Given the description of an element on the screen output the (x, y) to click on. 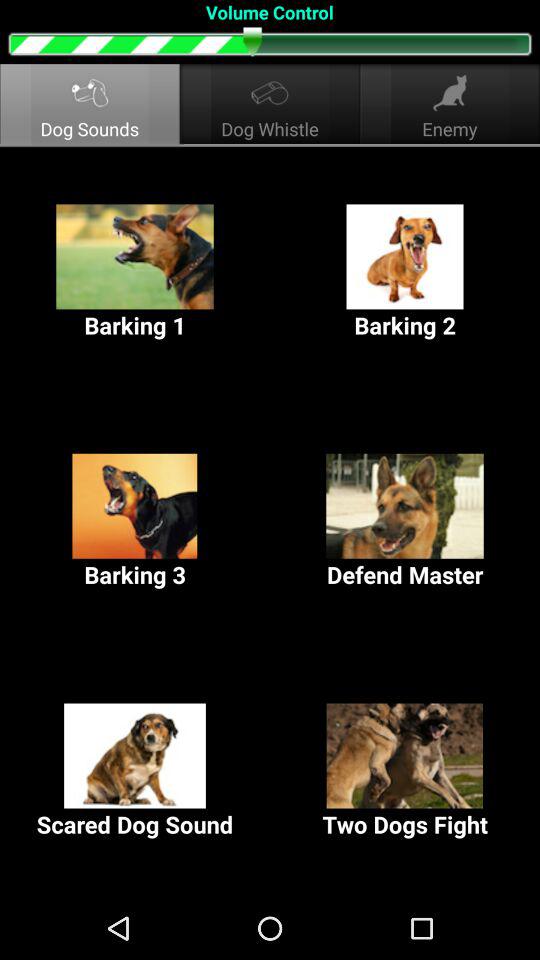
click the two dogs fight icon (405, 771)
